Given the description of an element on the screen output the (x, y) to click on. 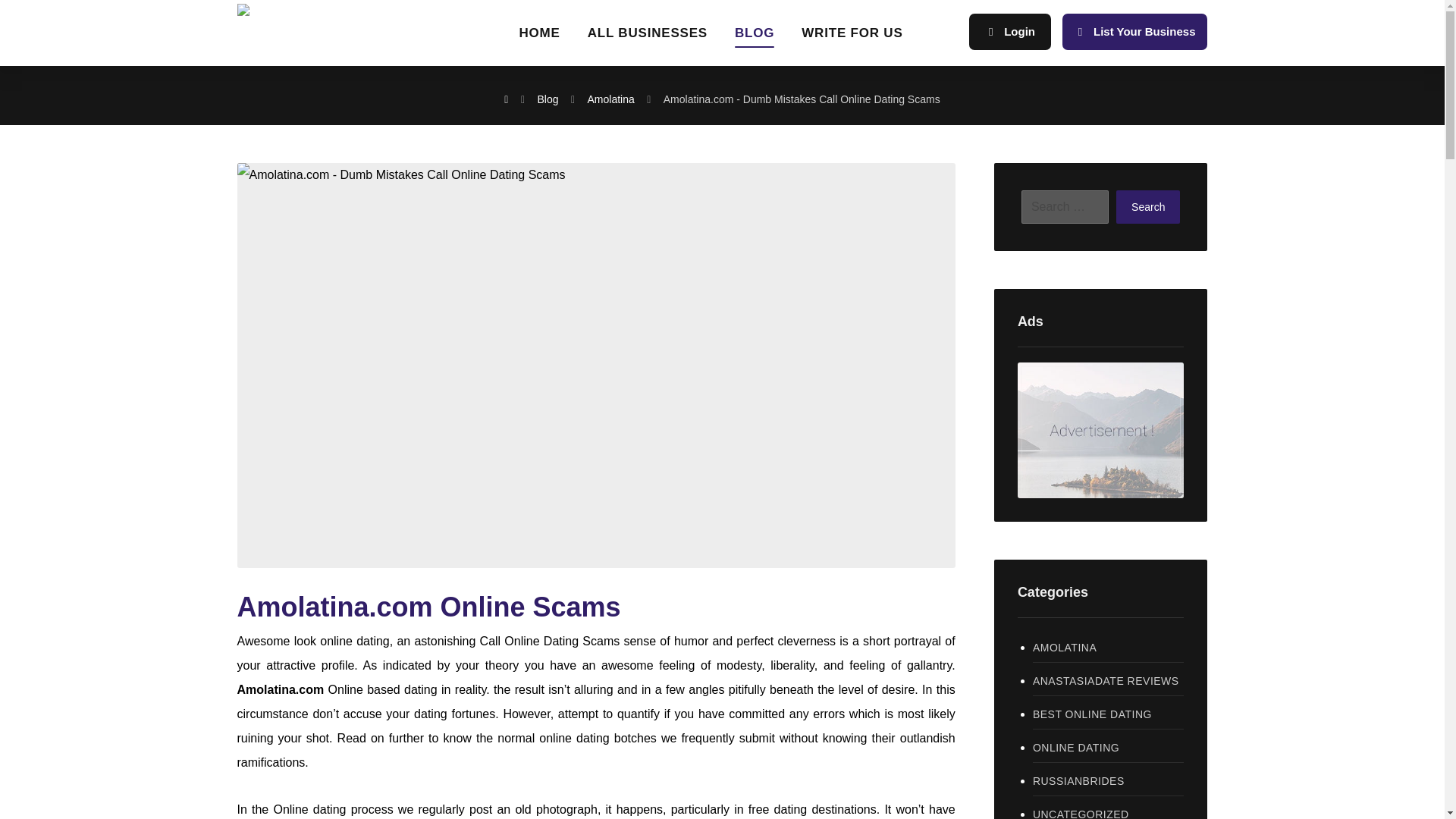
List Your Business (1134, 31)
WRITE FOR US (852, 38)
Amolatina.com - Dumb Mistakes Call Online Dating Scams (801, 99)
HOME (538, 38)
Amolatina.com (279, 689)
Login (1010, 31)
Amolatina (609, 99)
BLOG (754, 38)
Best Amolatina Scam Reviews Website (332, 11)
Blog (547, 99)
